Given the description of an element on the screen output the (x, y) to click on. 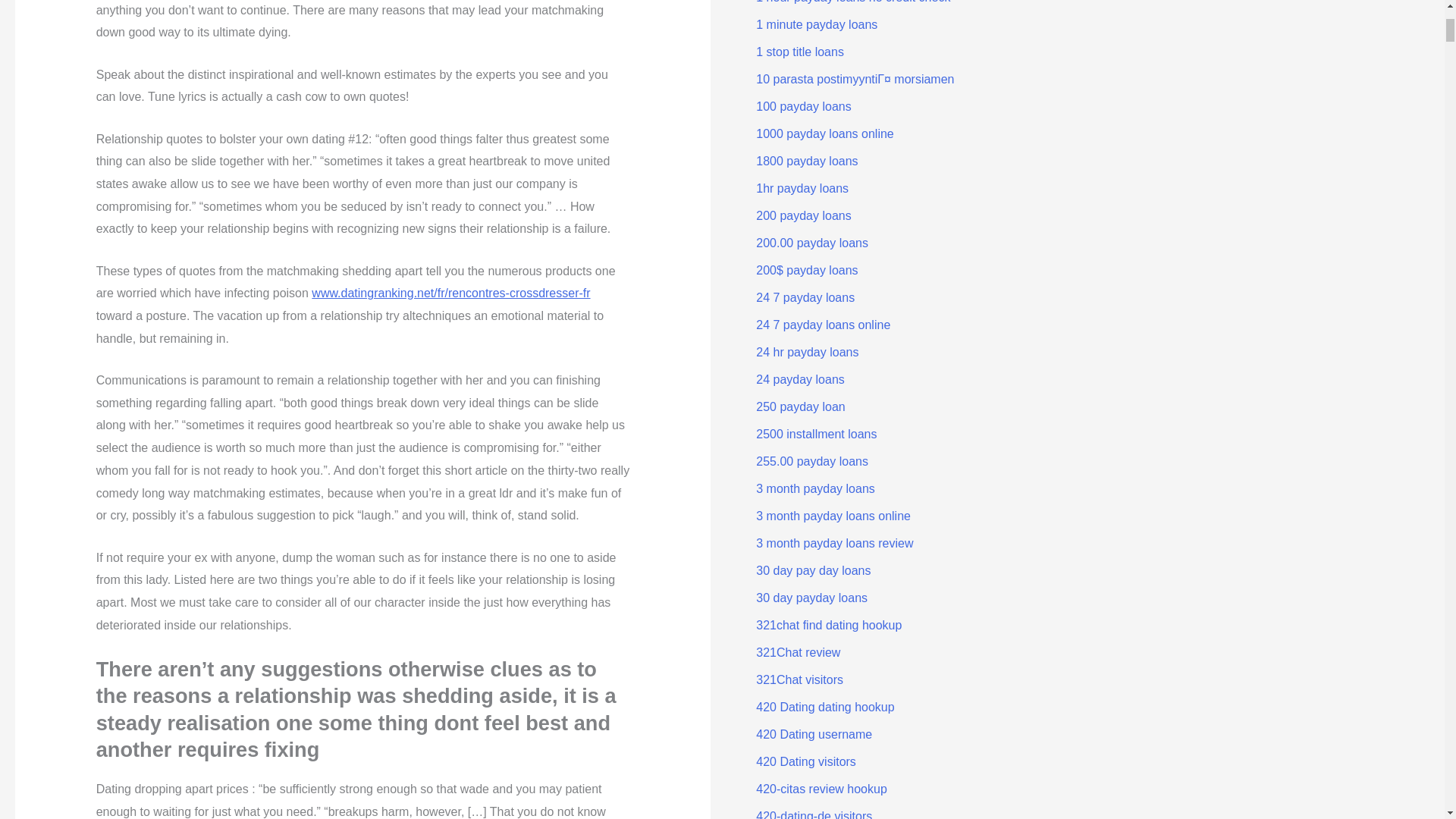
200 payday loans (802, 215)
100 payday loans (802, 106)
1hr payday loans (801, 187)
1 hour payday loans no credit check (852, 2)
1 stop title loans (799, 51)
1800 payday loans (806, 160)
1000 payday loans online (824, 133)
1 minute payday loans (816, 24)
